Given the description of an element on the screen output the (x, y) to click on. 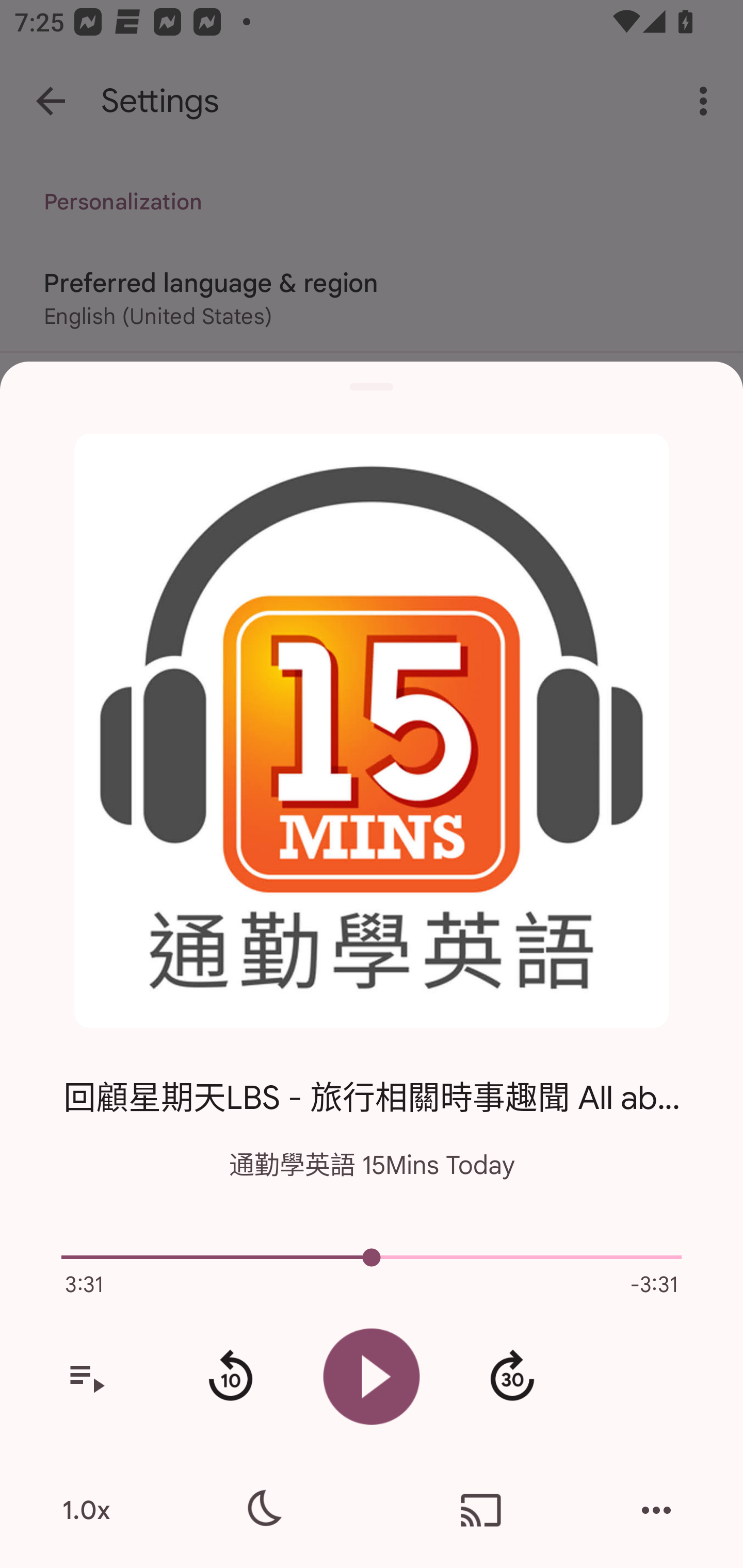
Open the show page for 通勤學英語 15Mins Today (371, 731)
5000.0 Current episode playback (371, 1257)
Play (371, 1376)
View your queue (86, 1376)
Rewind 10 seconds (230, 1376)
Fast forward 30 second (511, 1376)
1.0x Playback speed is 1.0. (86, 1510)
Sleep timer settings (261, 1510)
Cast. Disconnected (480, 1510)
More actions (655, 1510)
